Given the description of an element on the screen output the (x, y) to click on. 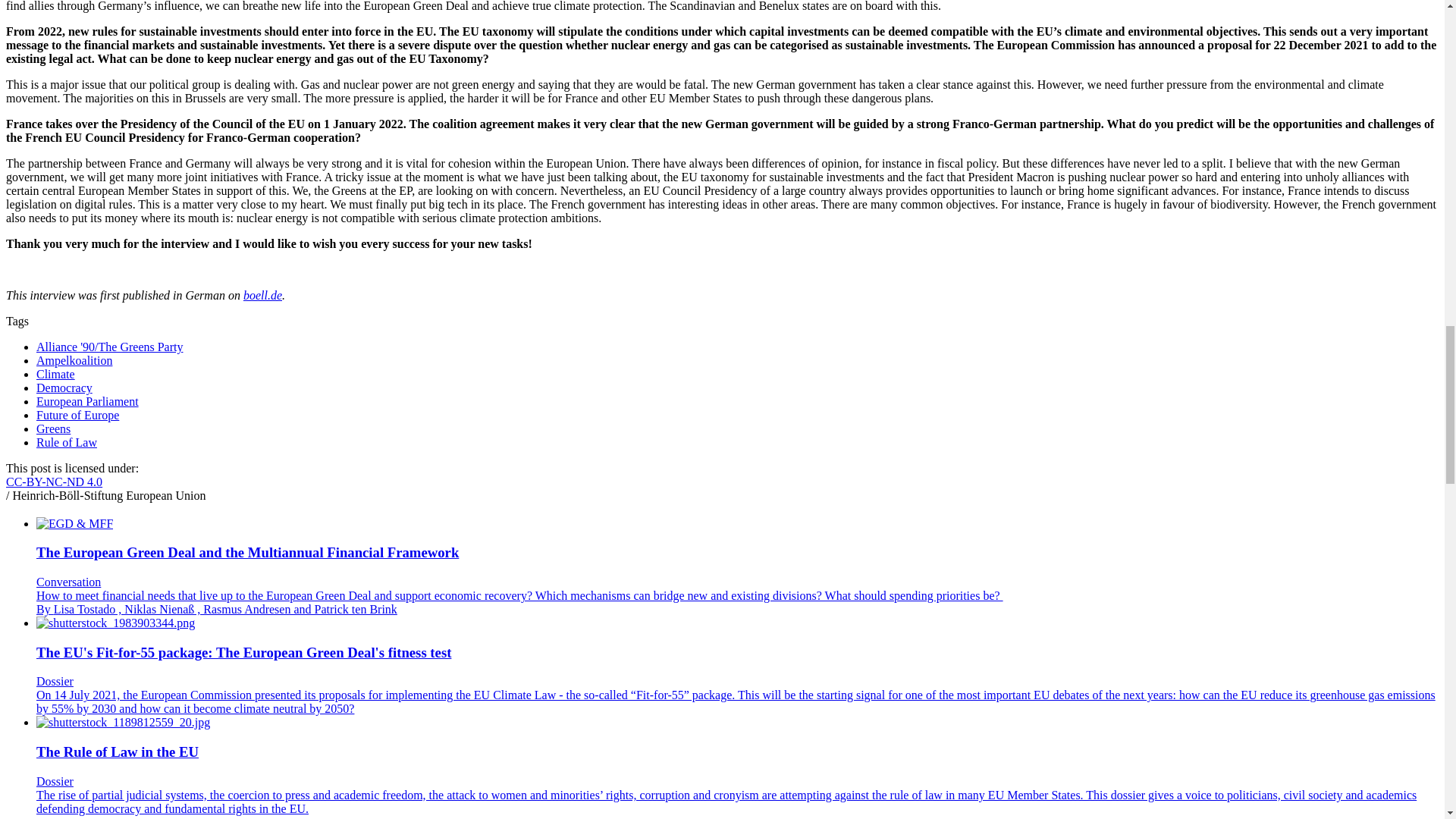
Greens (52, 428)
boell.de (262, 295)
Rule of Law (66, 441)
Ampelkoalition (74, 359)
European Parliament (87, 400)
Democracy (64, 387)
CC-BY-NC-ND 4.0 (53, 481)
Future of Europe (77, 414)
Climate (55, 373)
